Given the description of an element on the screen output the (x, y) to click on. 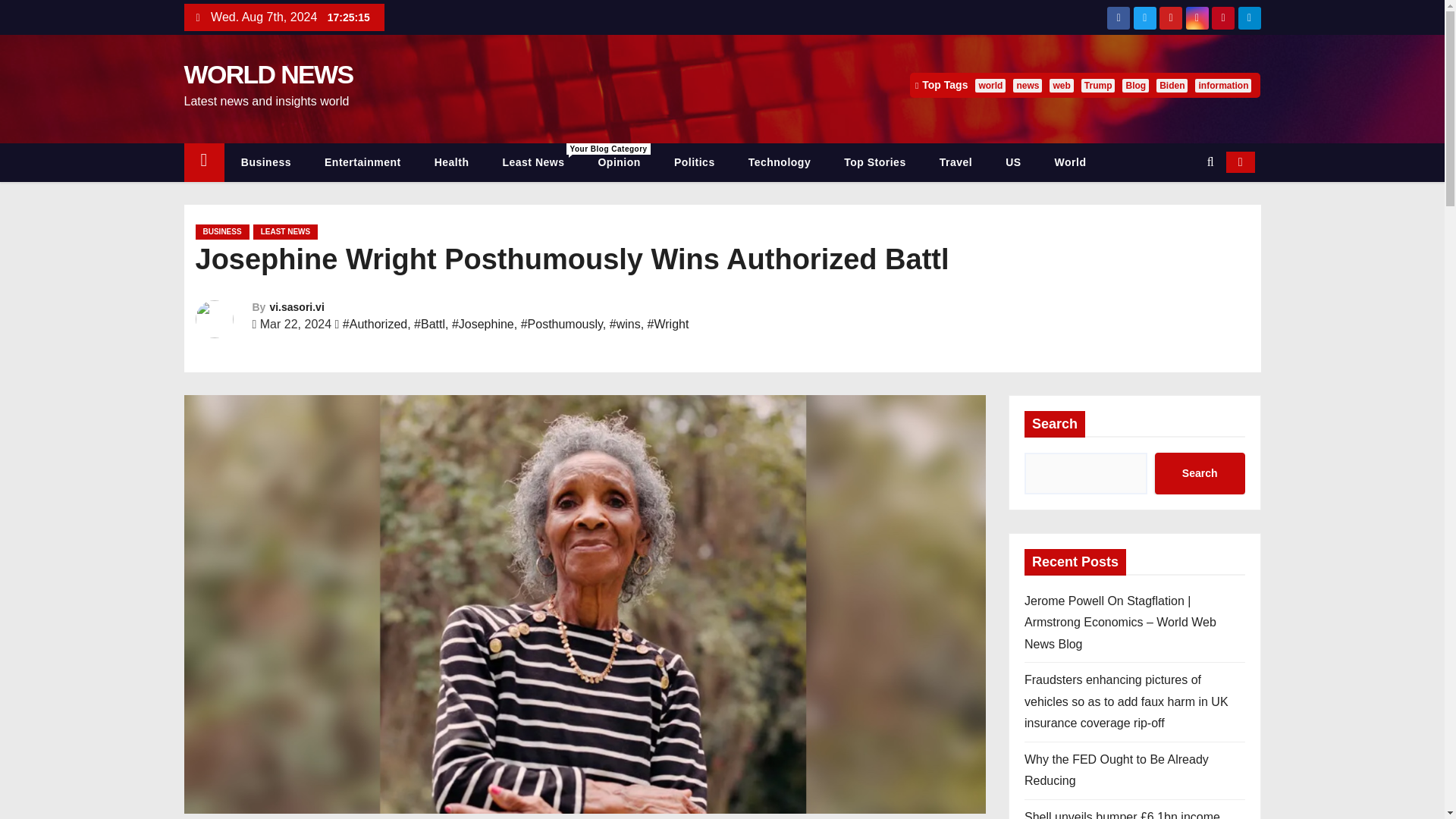
US (1012, 162)
Travel (955, 162)
news (1027, 85)
Politics (695, 162)
WORLD NEWS (267, 73)
Technology (780, 162)
BUSINESS (221, 231)
Health (451, 162)
Top Stories (874, 162)
Opinion (618, 162)
